Given the description of an element on the screen output the (x, y) to click on. 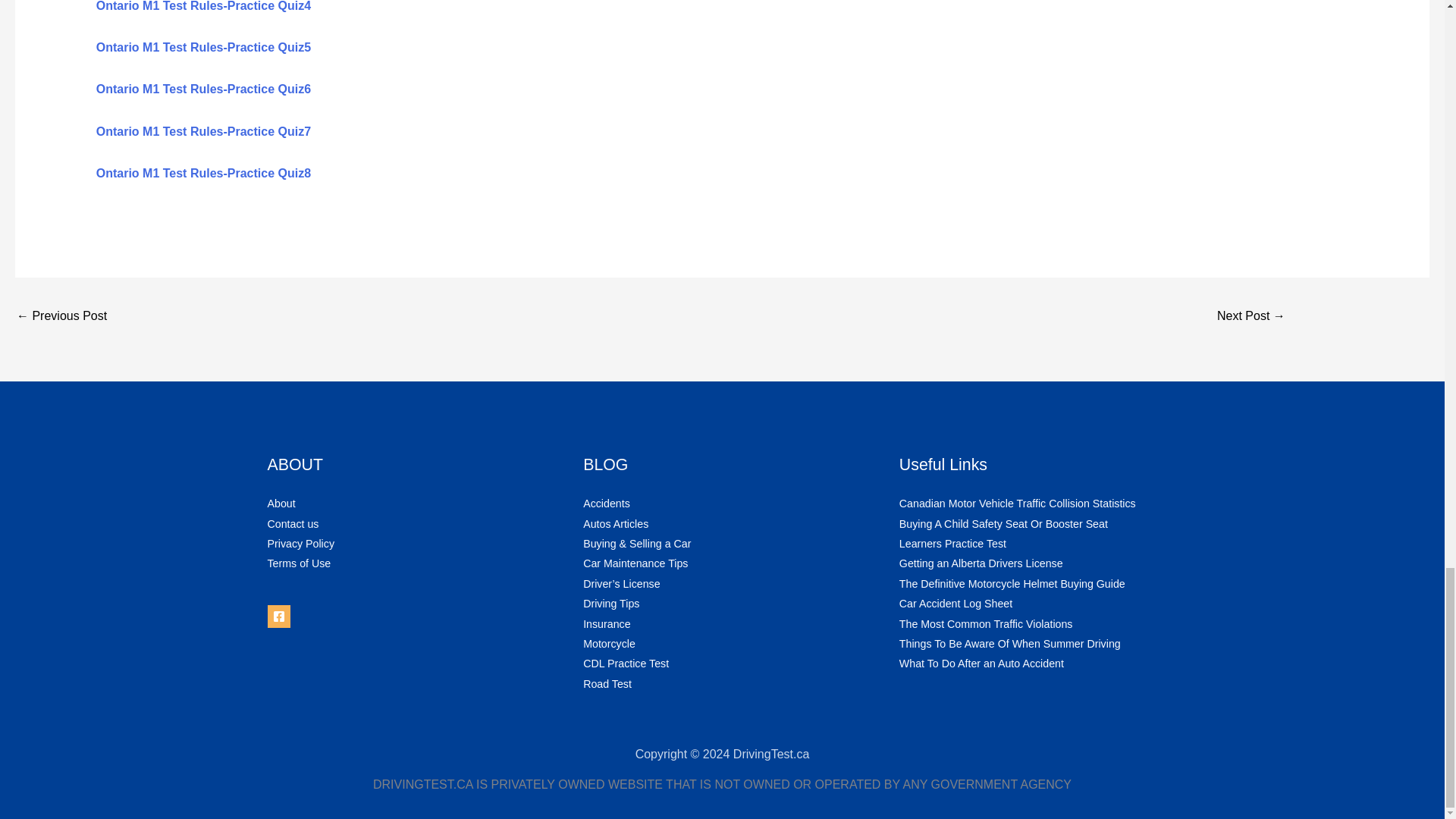
Ontario M1 Test Rules4 (203, 6)
Ontario M1 Test Rules-Practice Quiz8 (203, 173)
Ontario M1 Test Rules-Practice Quiz6 (203, 88)
Ontario M1 Test Rules-Practice Quiz4 (203, 6)
Ontario M1 Test Rules5 (203, 47)
Ontario M1 Test Rules-Practice Quiz7 (203, 131)
Ontario M1 Test Rules-Practice Quiz5 (203, 47)
Ontario M1 Test Rules6 (203, 88)
